Given the description of an element on the screen output the (x, y) to click on. 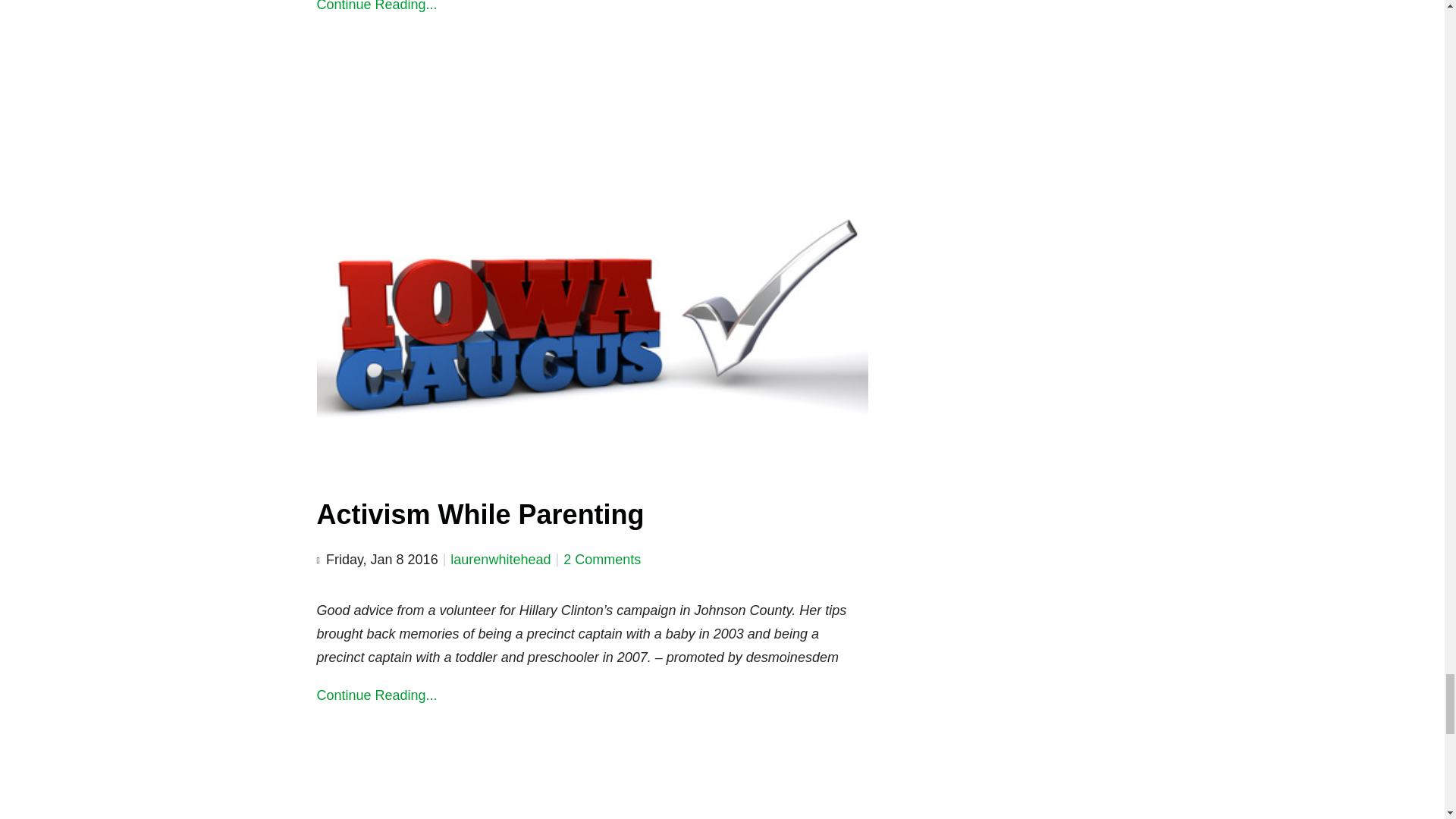
comments (601, 559)
